Given the description of an element on the screen output the (x, y) to click on. 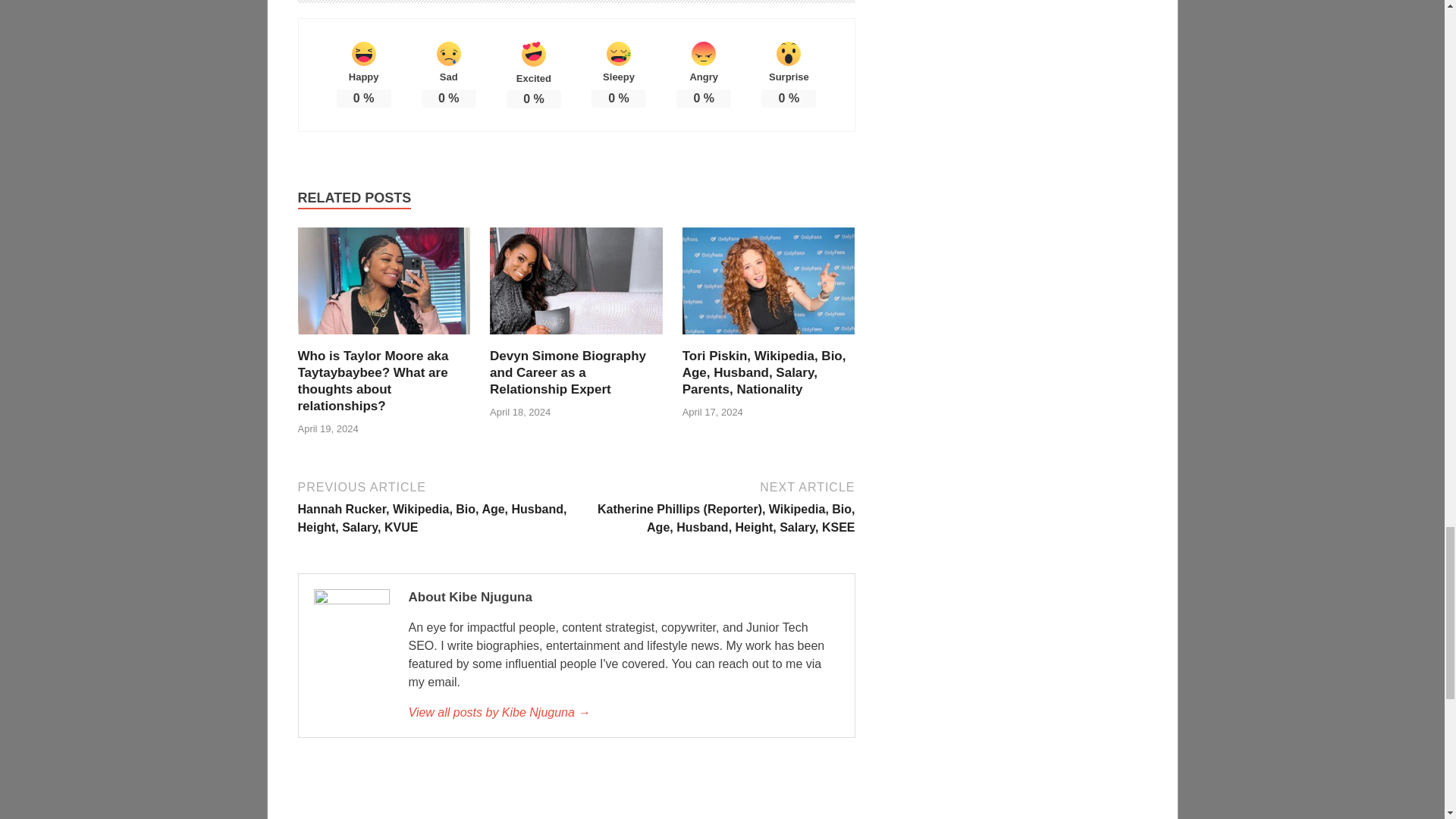
Kibe Njuguna (622, 712)
Devyn Simone Biography and Career as a Relationship Expert (567, 372)
Devyn Simone Biography and Career as a Relationship Expert (567, 372)
Devyn Simone Biography and Career as a Relationship Expert (575, 338)
